Given the description of an element on the screen output the (x, y) to click on. 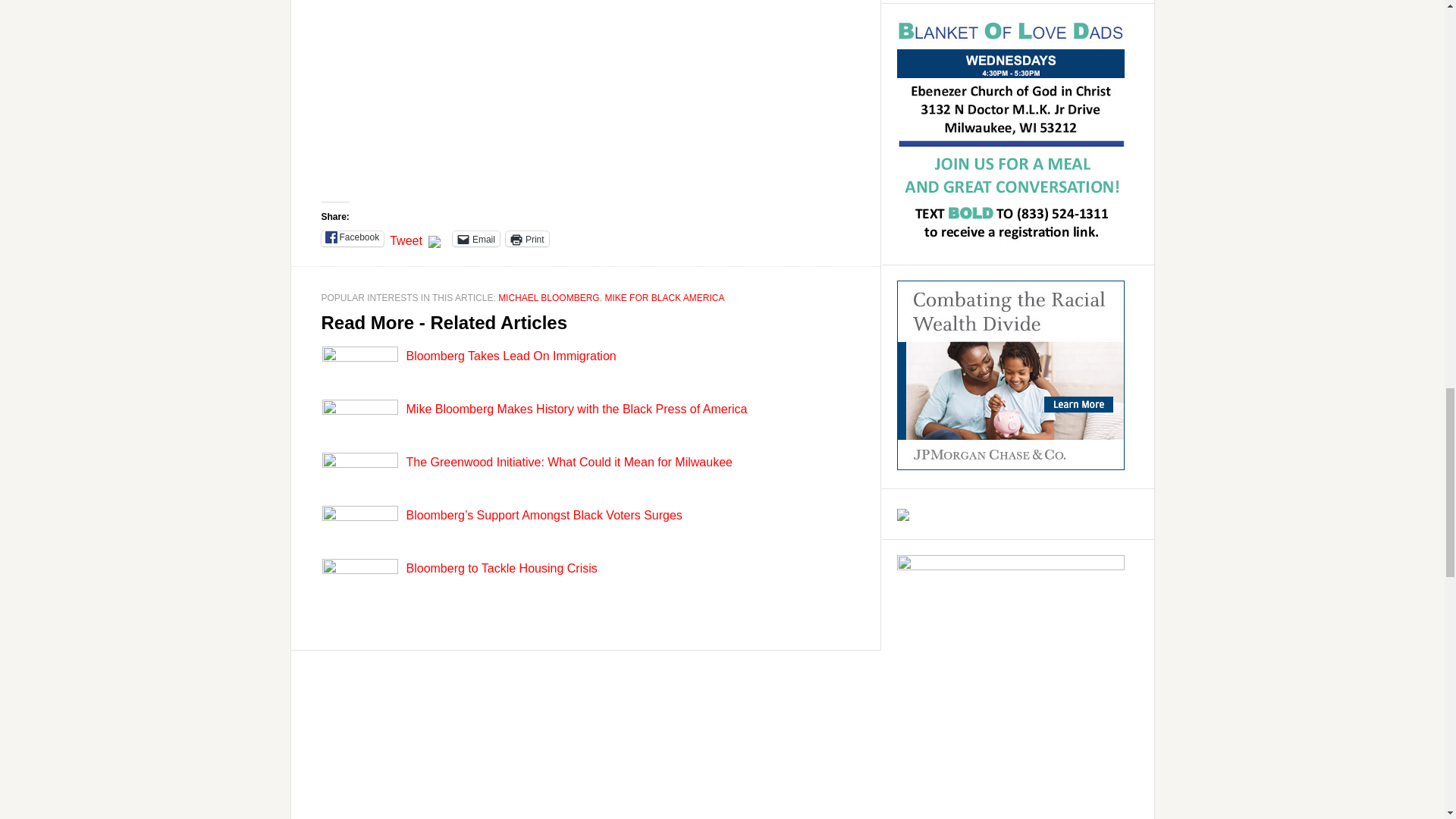
The Greenwood Initiative: What Could it Mean for Milwaukee (569, 461)
Bloomberg to Tackle Housing Crisis (501, 567)
Print (526, 238)
Bloomberg to Tackle Housing Crisis (501, 567)
Click to email a link to a friend (475, 238)
Bloomberg Takes Lead On Immigration (510, 355)
Bloomberg Takes Lead On Immigration (510, 355)
Facebook (352, 238)
MICHAEL BLOOMBERG (548, 297)
Click to share on Facebook (352, 238)
